Given the description of an element on the screen output the (x, y) to click on. 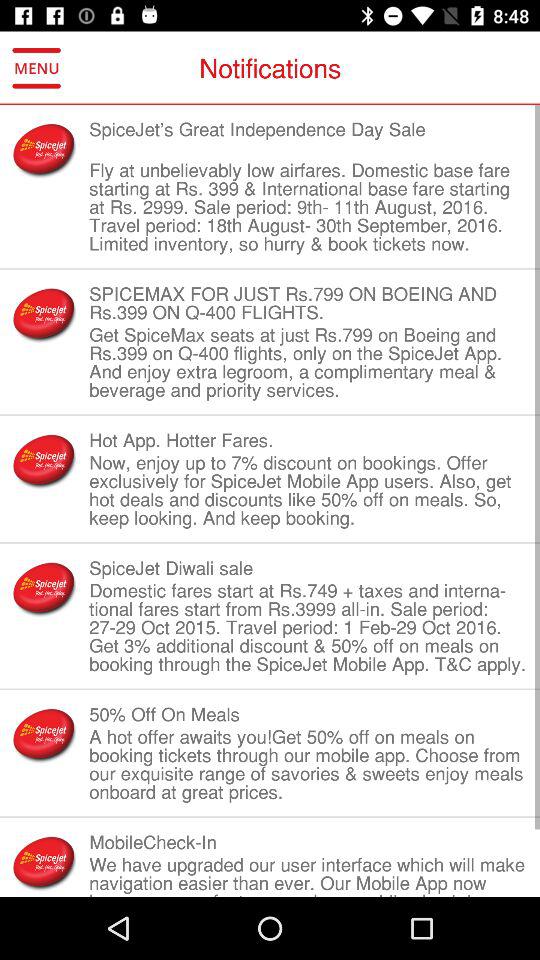
click on mini image which is left to 50 off on meals (44, 734)
click on mini image left to hot app hotter fares (44, 460)
click on the symbol beside mobilecheckin (44, 862)
